Given the description of an element on the screen output the (x, y) to click on. 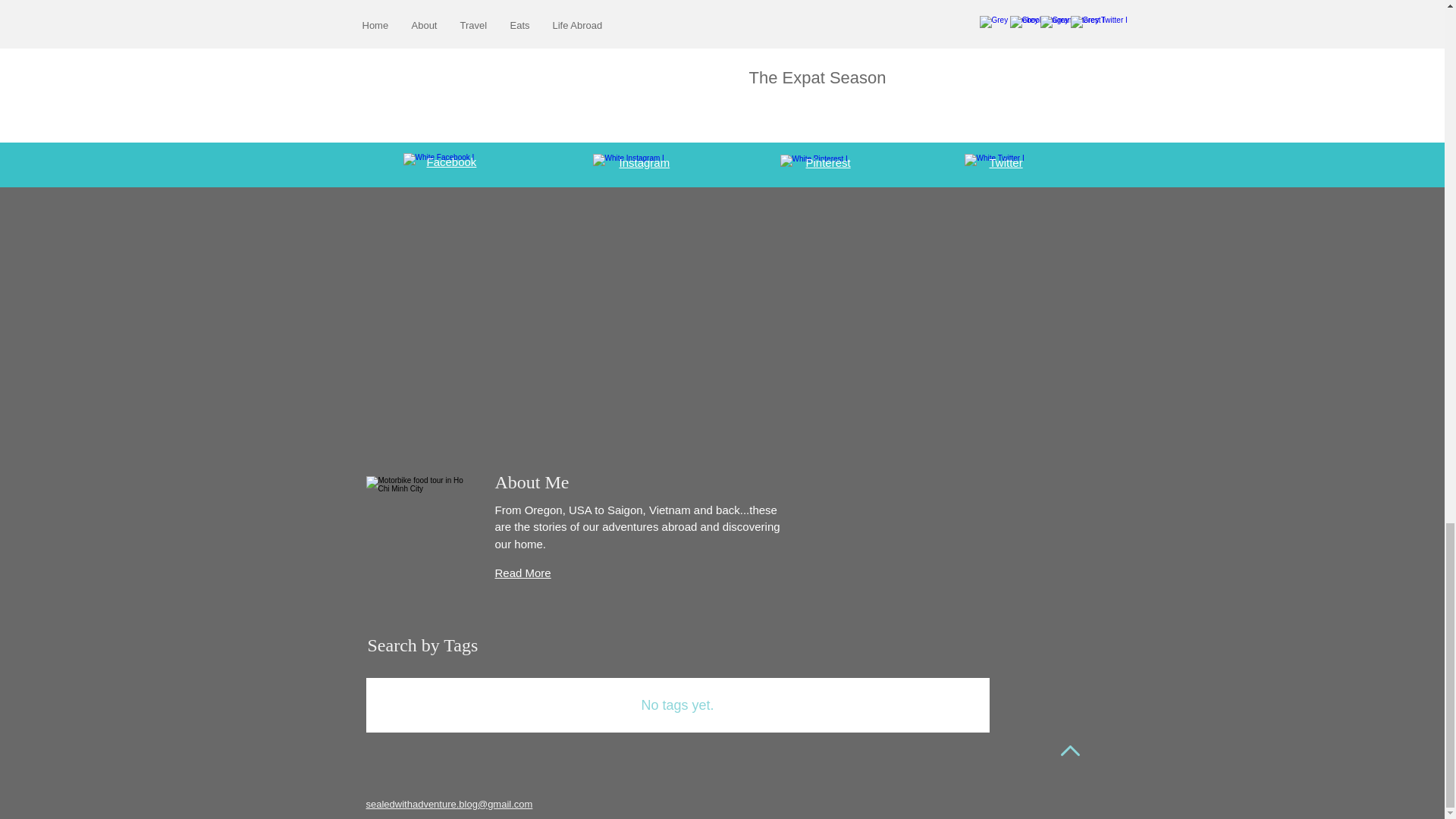
Twitter (1005, 161)
Read More (522, 572)
Instagram (643, 161)
The Expat Season (903, 77)
Facebook (451, 161)
Pinte (818, 161)
rest (840, 161)
